Given the description of an element on the screen output the (x, y) to click on. 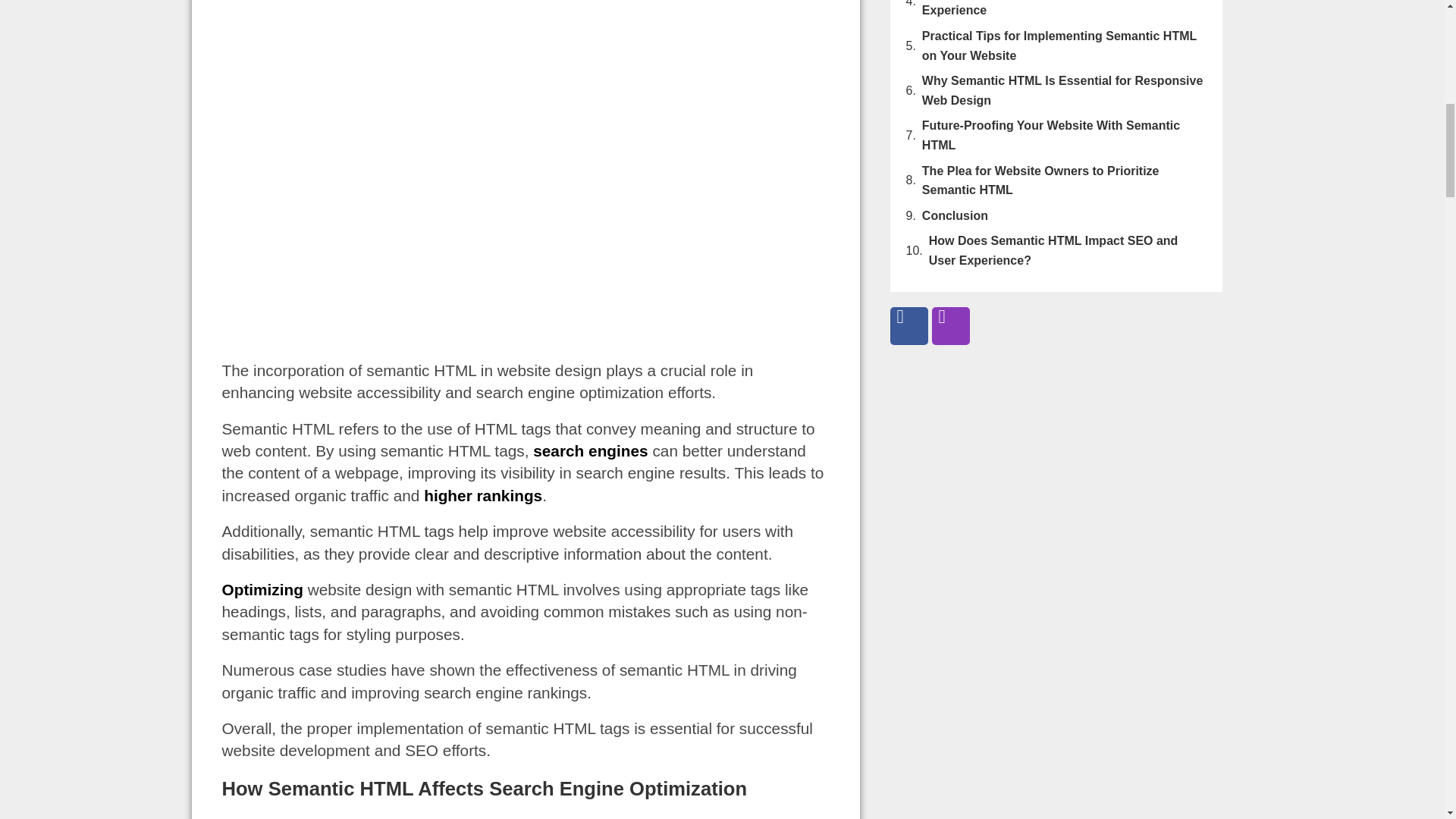
Optimizing For Bing Places Is It Worth It (261, 589)
